Given the description of an element on the screen output the (x, y) to click on. 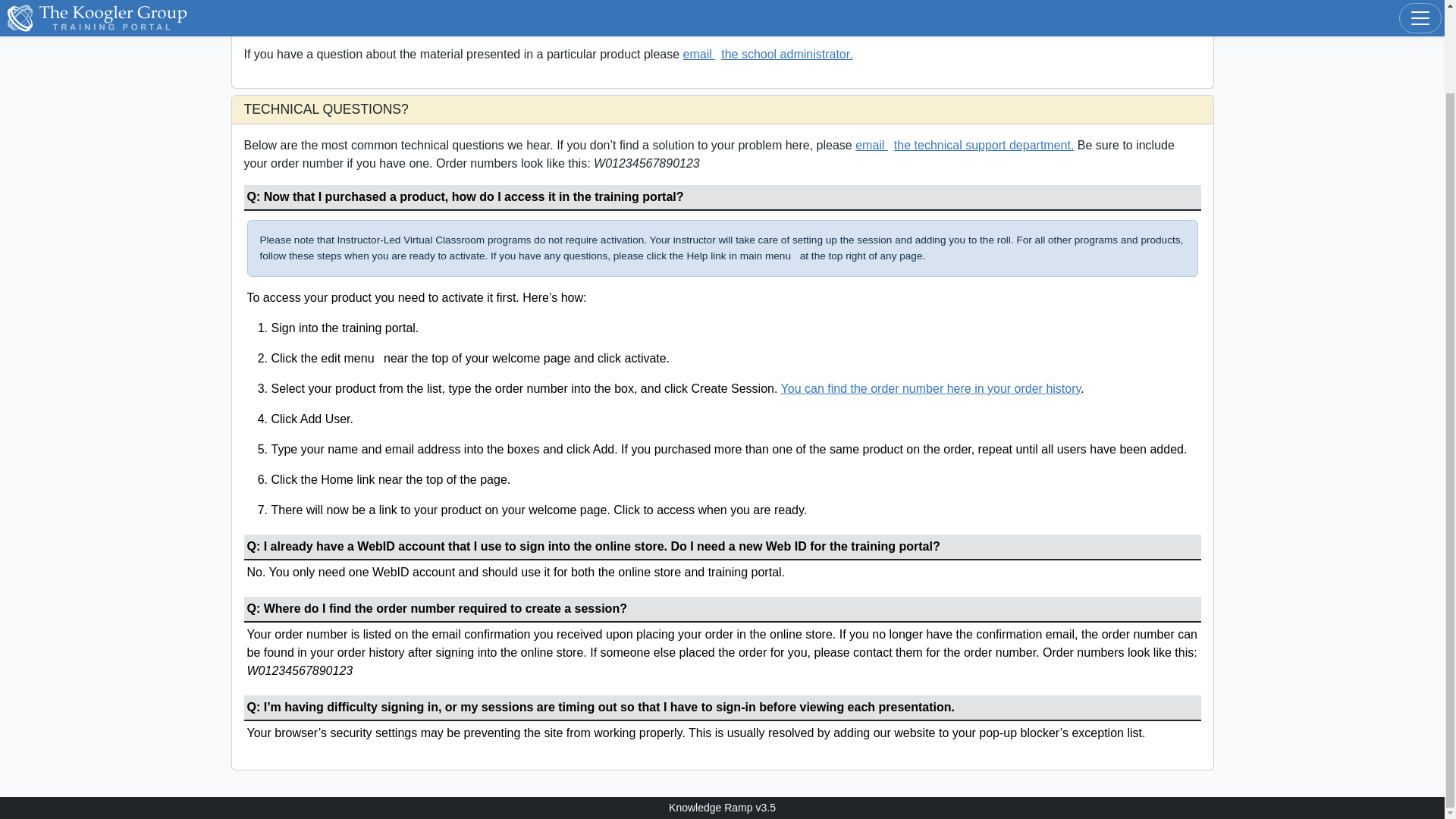
email the school administrator. (767, 53)
You can find the order number here in your order history (930, 388)
email the technical support department. (965, 144)
